Given the description of an element on the screen output the (x, y) to click on. 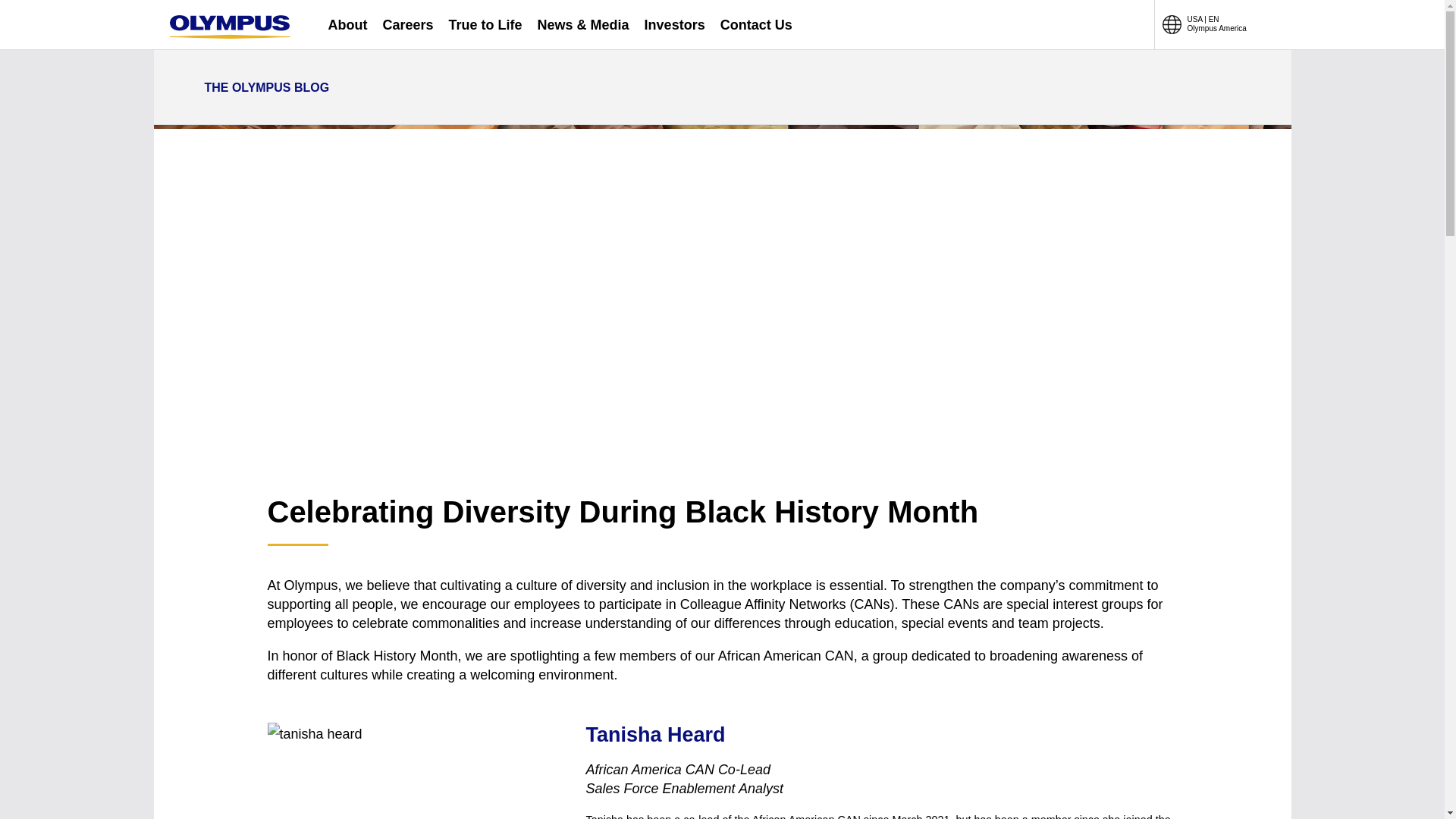
THE OLYMPUS BLOG (255, 87)
Investors (674, 24)
Home (228, 26)
Careers (406, 24)
Contact Us (756, 24)
True to Life (485, 24)
